Given the description of an element on the screen output the (x, y) to click on. 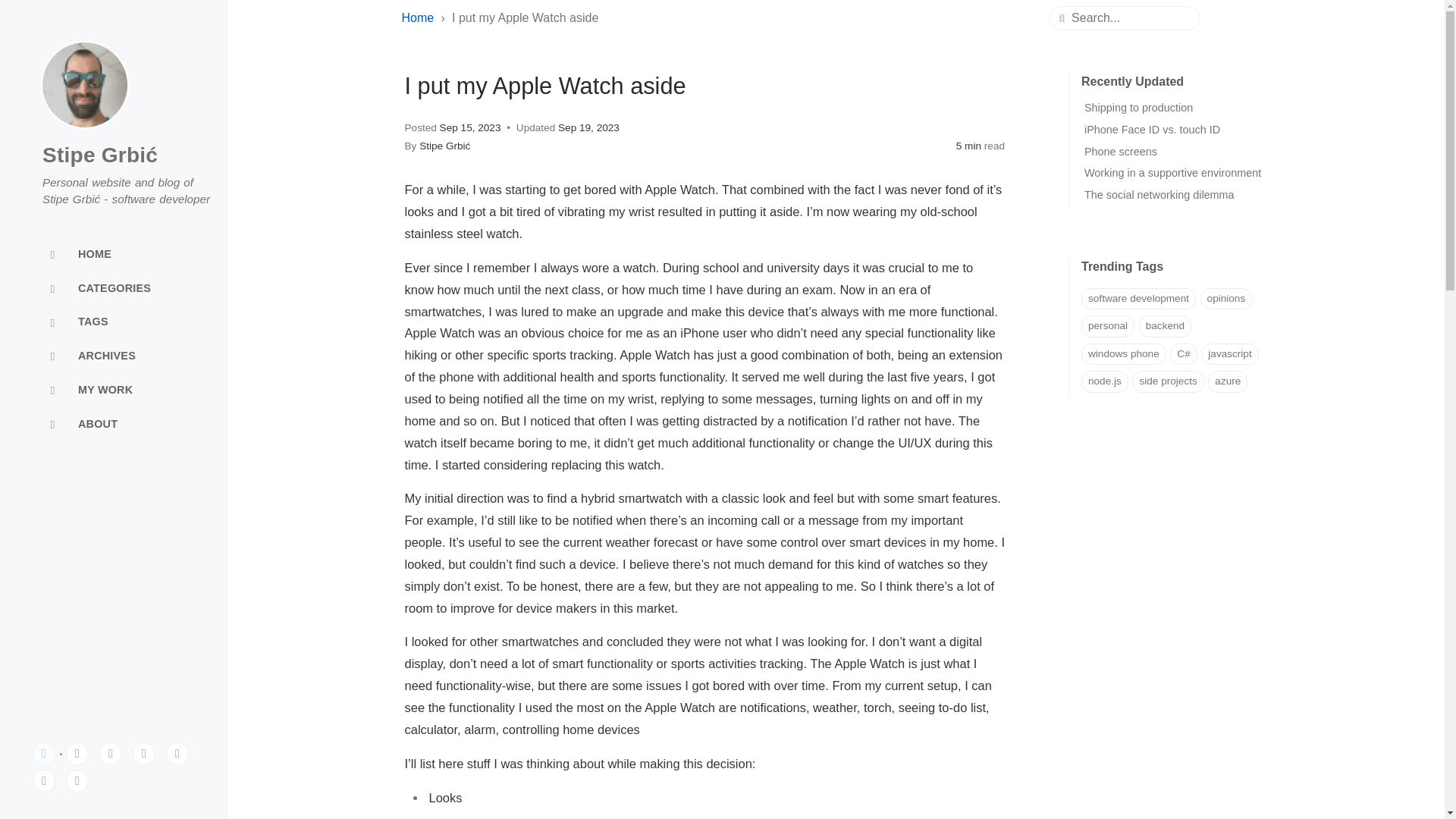
ARCHIVES (113, 356)
opinions (1225, 298)
TAGS (113, 322)
Phone screens (1120, 151)
Home (419, 17)
Shipping to production (1138, 107)
software development (1138, 298)
HOME (113, 254)
Working in a supportive environment (1172, 173)
iPhone Face ID vs. touch ID (1152, 129)
CATEGORIES (113, 287)
The social networking dilemma (1159, 194)
MY WORK (113, 389)
ABOUT (113, 423)
